Given the description of an element on the screen output the (x, y) to click on. 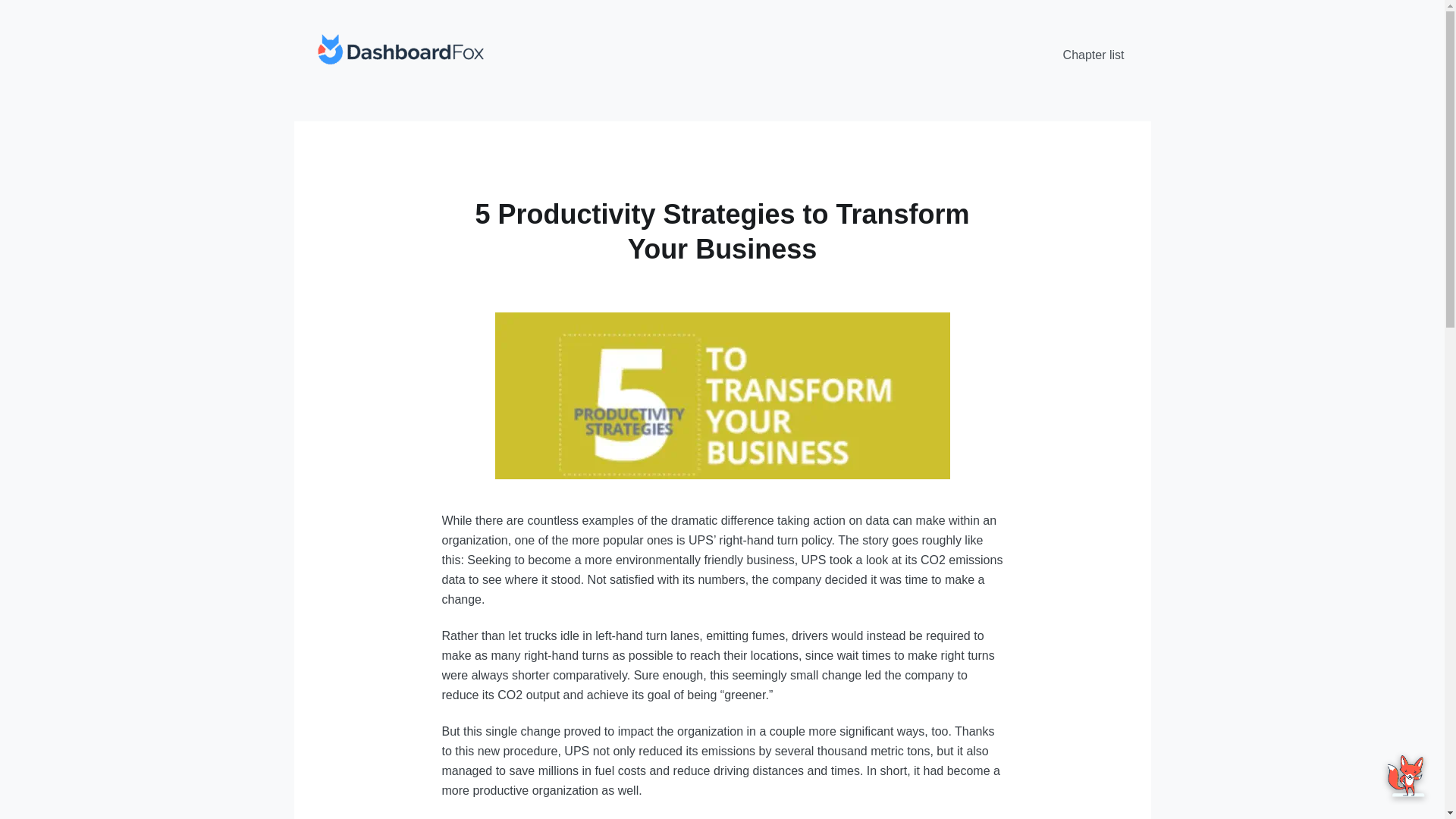
Chapter list (1093, 55)
DashboardFox (399, 51)
